Given the description of an element on the screen output the (x, y) to click on. 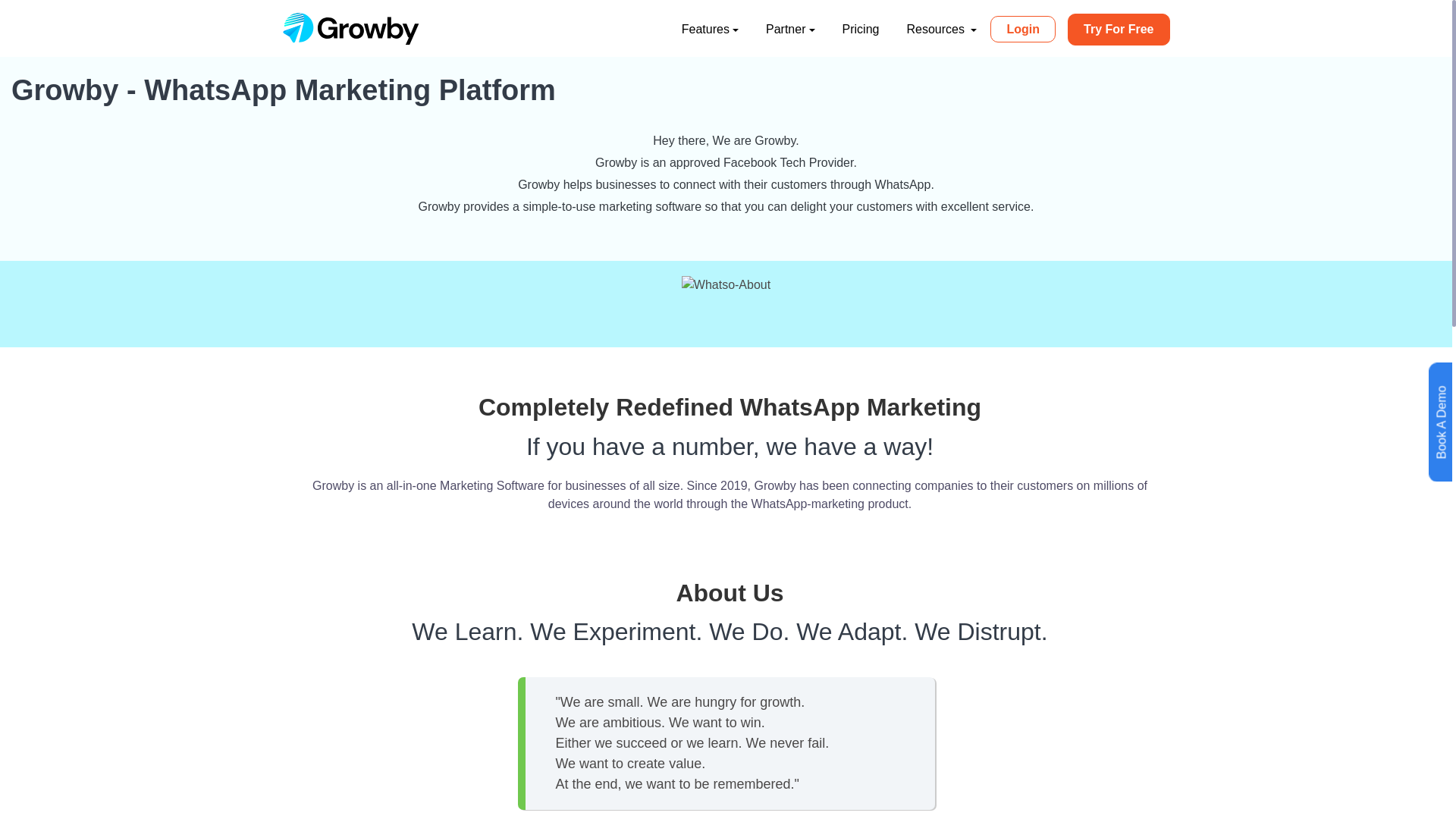
Pricing (860, 29)
Resources (941, 29)
Features (710, 29)
Login (1022, 28)
Partner (790, 29)
Try For Free (1118, 29)
